Given the description of an element on the screen output the (x, y) to click on. 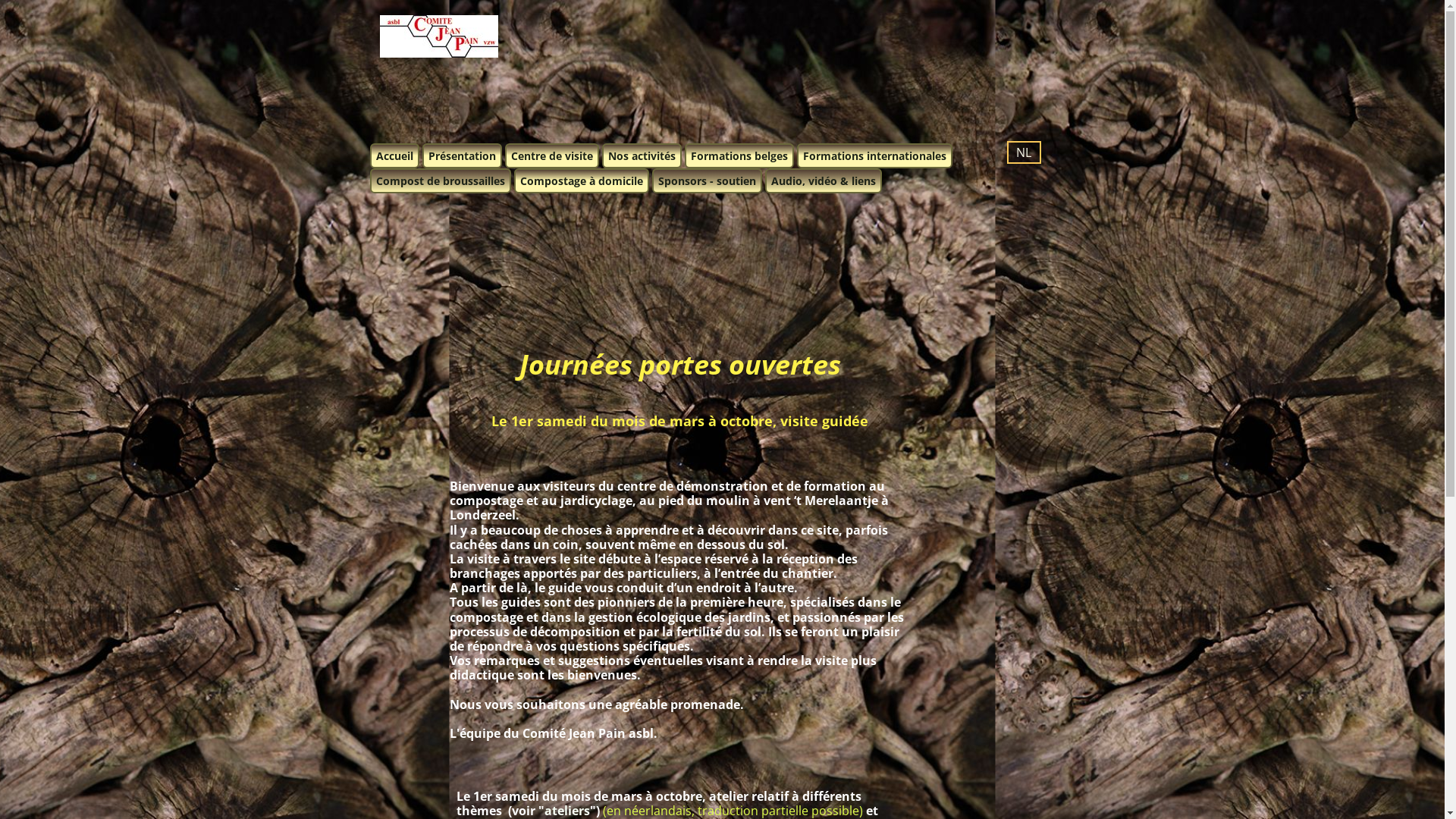
Formations internationales Element type: text (873, 154)
Compost de broussailles Element type: text (440, 180)
Centre de visite Element type: text (552, 154)
NL Element type: text (1023, 152)
Formations belges Element type: text (738, 154)
Accueil Element type: text (394, 154)
Sponsors - soutien Element type: text (707, 180)
